Given the description of an element on the screen output the (x, y) to click on. 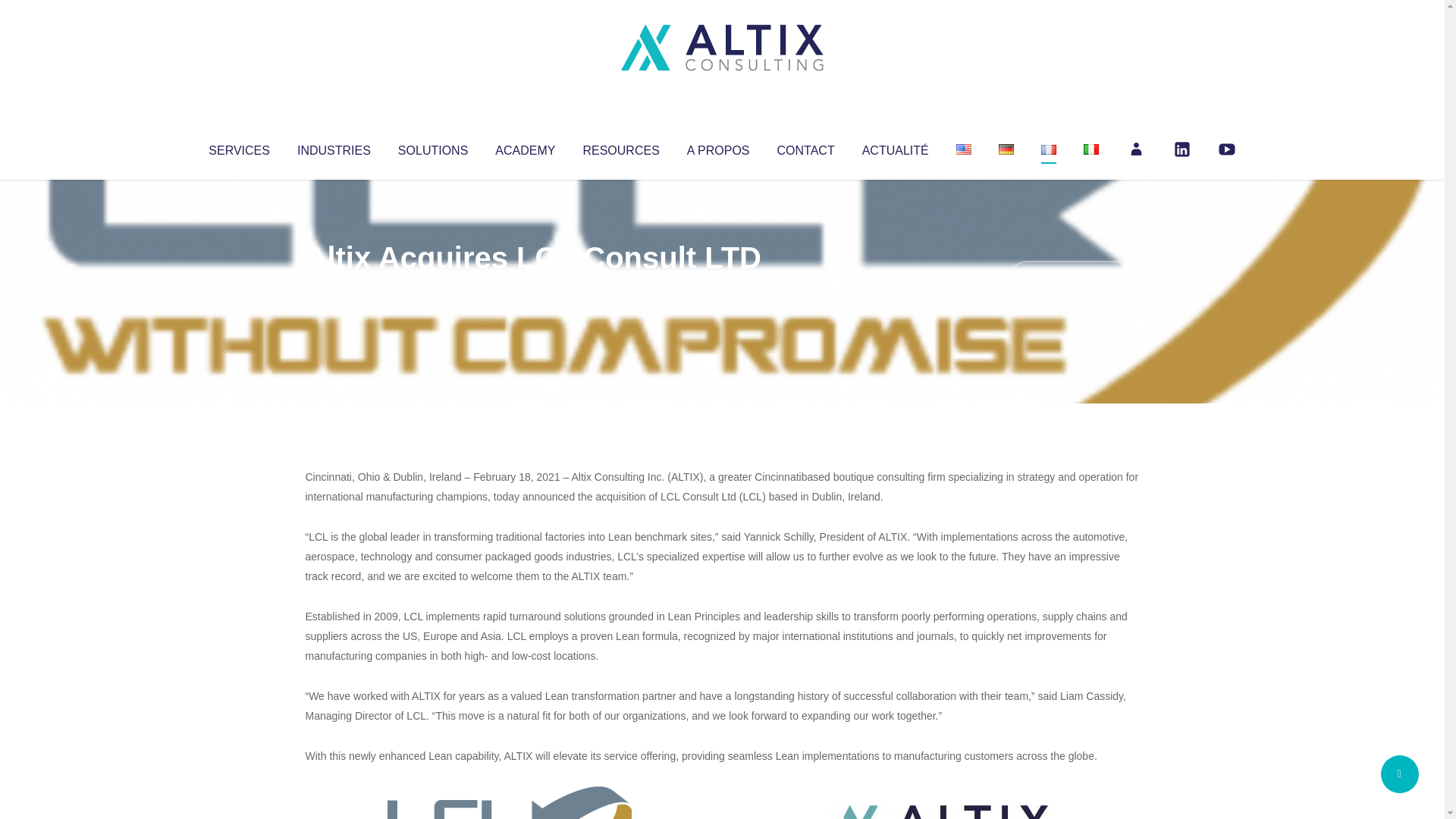
Articles par Altix (333, 287)
SERVICES (238, 146)
A PROPOS (718, 146)
ACADEMY (524, 146)
INDUSTRIES (334, 146)
Altix (333, 287)
RESOURCES (620, 146)
Uncategorized (530, 287)
SOLUTIONS (432, 146)
No Comments (1073, 278)
